Given the description of an element on the screen output the (x, y) to click on. 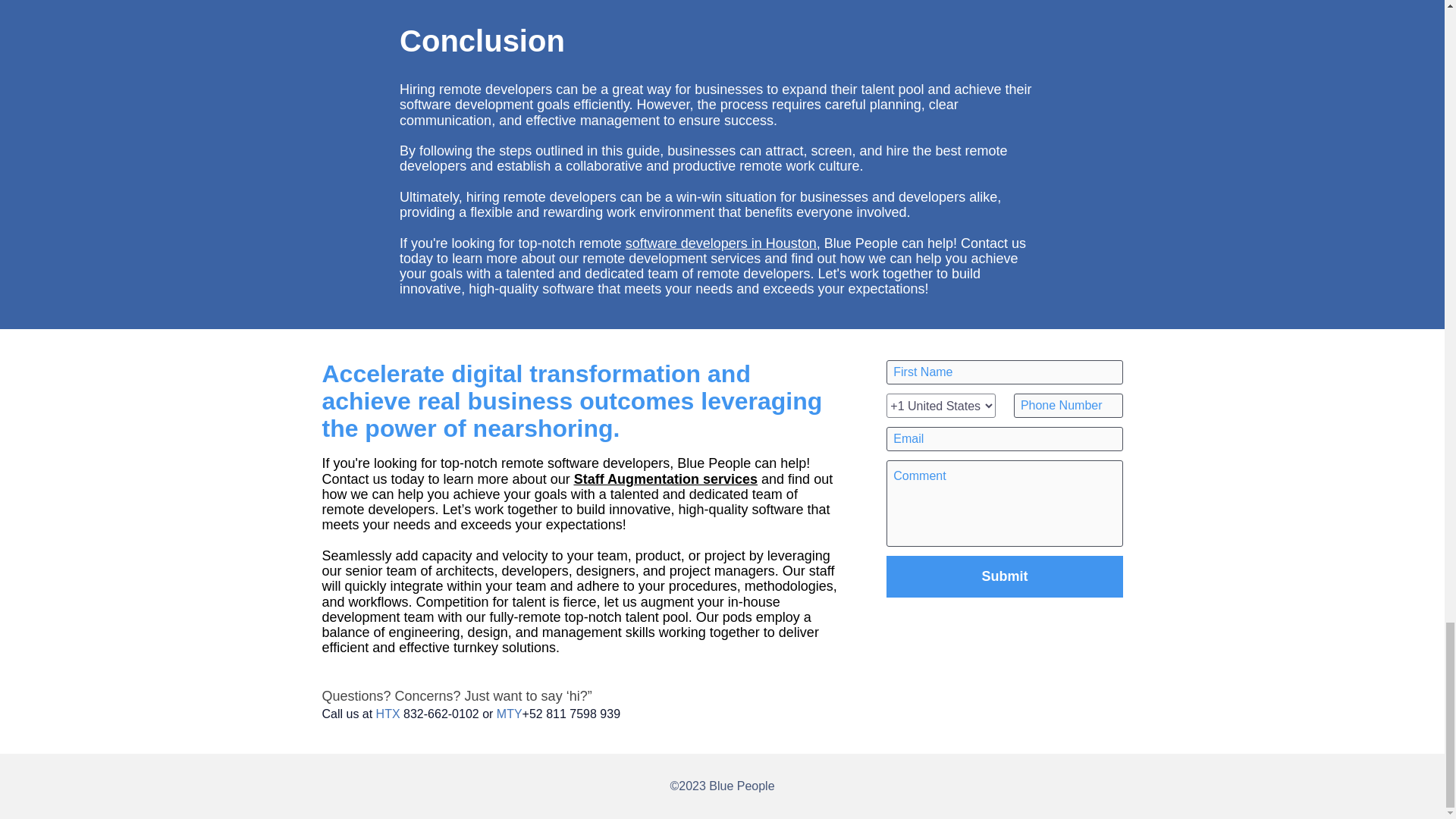
Submit (1004, 576)
Staff Augmentation services (665, 478)
software developers in Houston (721, 242)
